Given the description of an element on the screen output the (x, y) to click on. 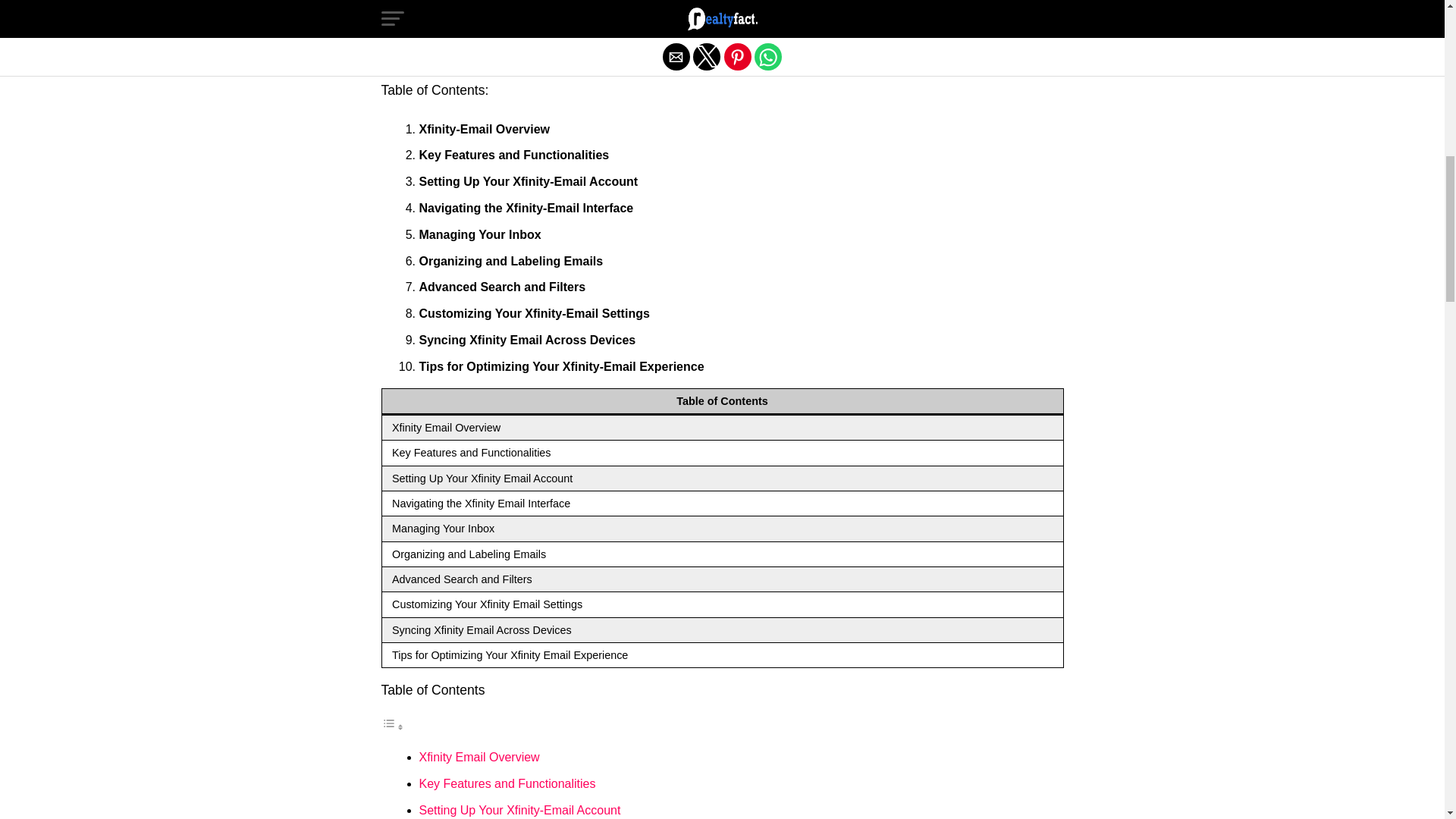
Xfinity Email Overview (478, 757)
Xfinity Email Overview (478, 757)
Key Features and Functionalities (507, 783)
Setting Up Your Xfinity-Email Account (519, 809)
Key Features and Functionalities (507, 783)
Setting Up Your Xfinity-Email Account (519, 809)
